Given the description of an element on the screen output the (x, y) to click on. 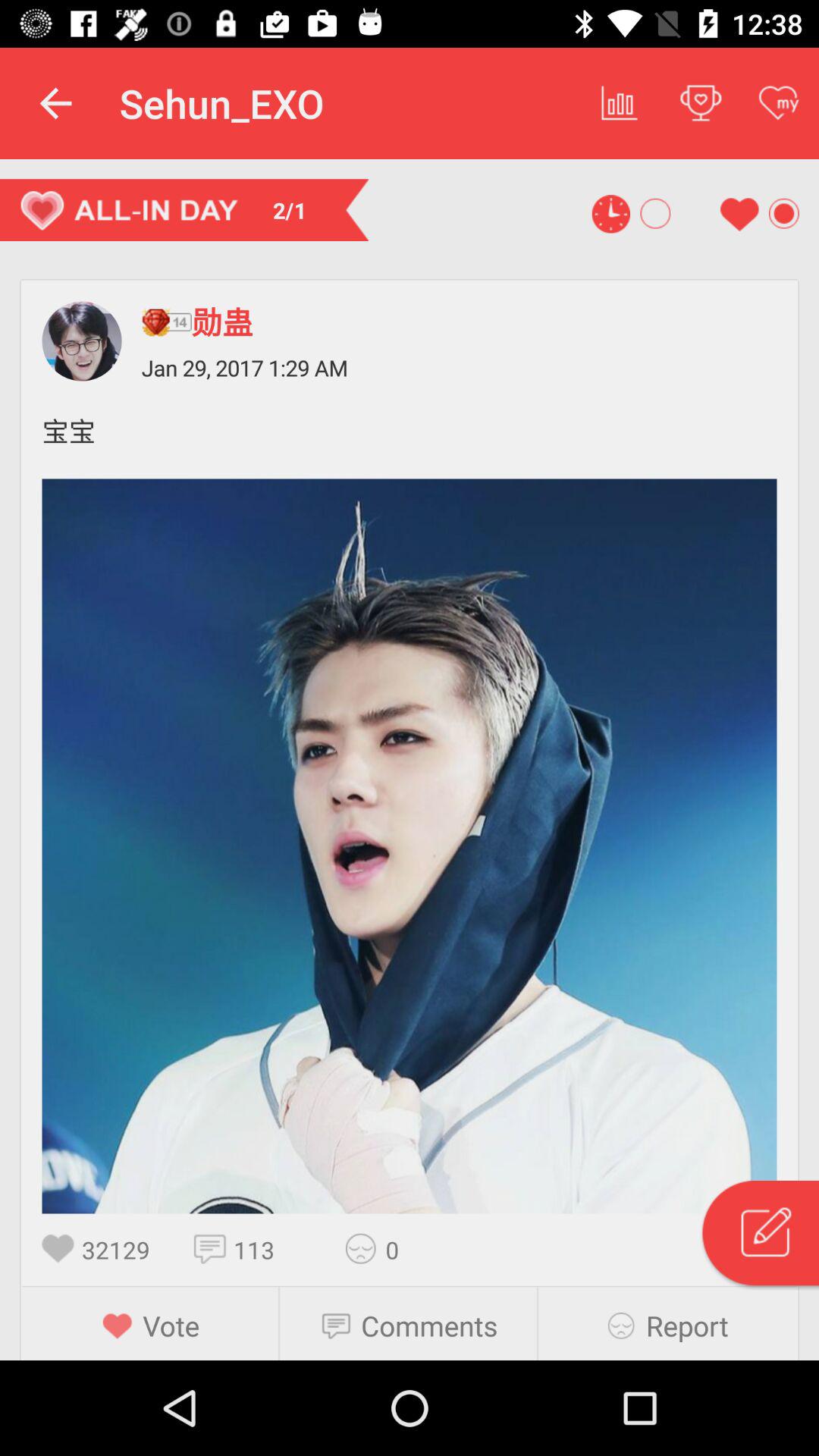
press the item above the vote item (122, 1249)
